Given the description of an element on the screen output the (x, y) to click on. 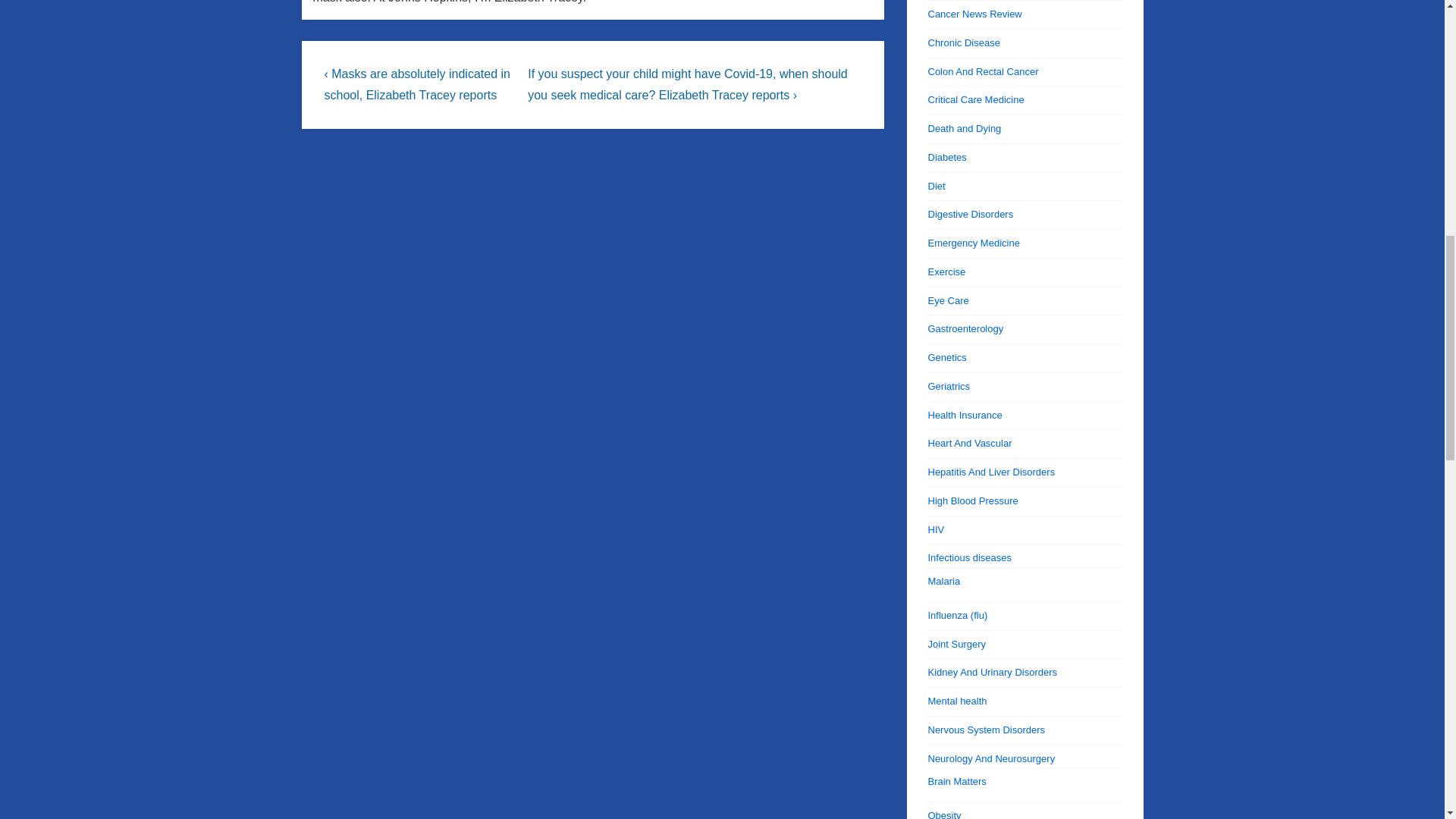
Critical Care Medicine (976, 99)
Chronic Disease (964, 42)
Cancer News Review (975, 13)
Death and Dying (964, 128)
Diabetes (947, 156)
Colon And Rectal Cancer (983, 71)
